Given the description of an element on the screen output the (x, y) to click on. 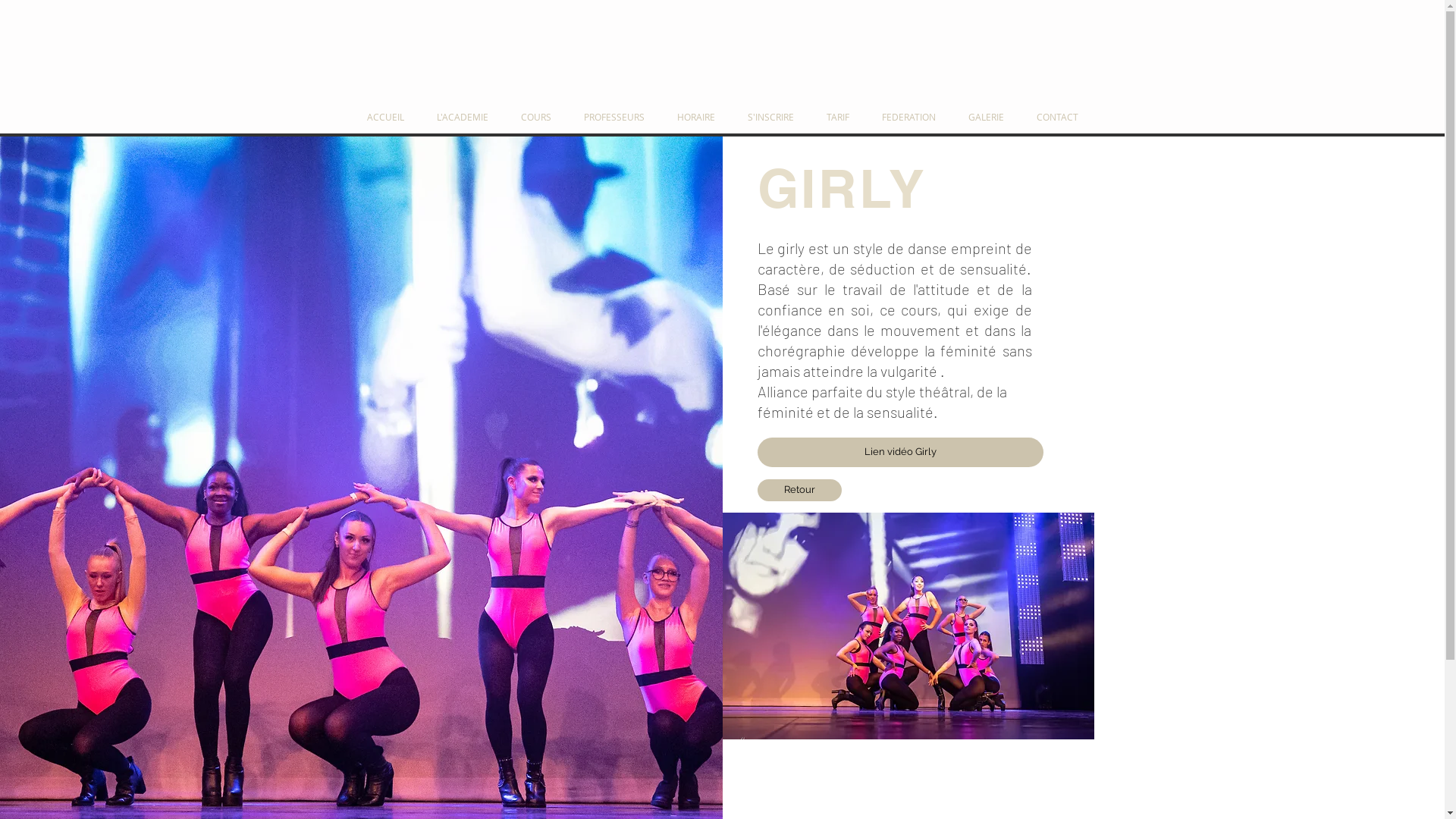
Retour Element type: text (798, 490)
COURS Element type: text (536, 116)
TARIF Element type: text (837, 116)
CONTACT Element type: text (1057, 116)
HORAIRE Element type: text (696, 116)
L'ACADEMIE Element type: text (462, 116)
FEDERATION Element type: text (909, 116)
ACCUEIL Element type: text (385, 116)
PROFESSEURS Element type: text (613, 116)
S'INSCRIRE Element type: text (770, 116)
GALERIE Element type: text (986, 116)
